Given the description of an element on the screen output the (x, y) to click on. 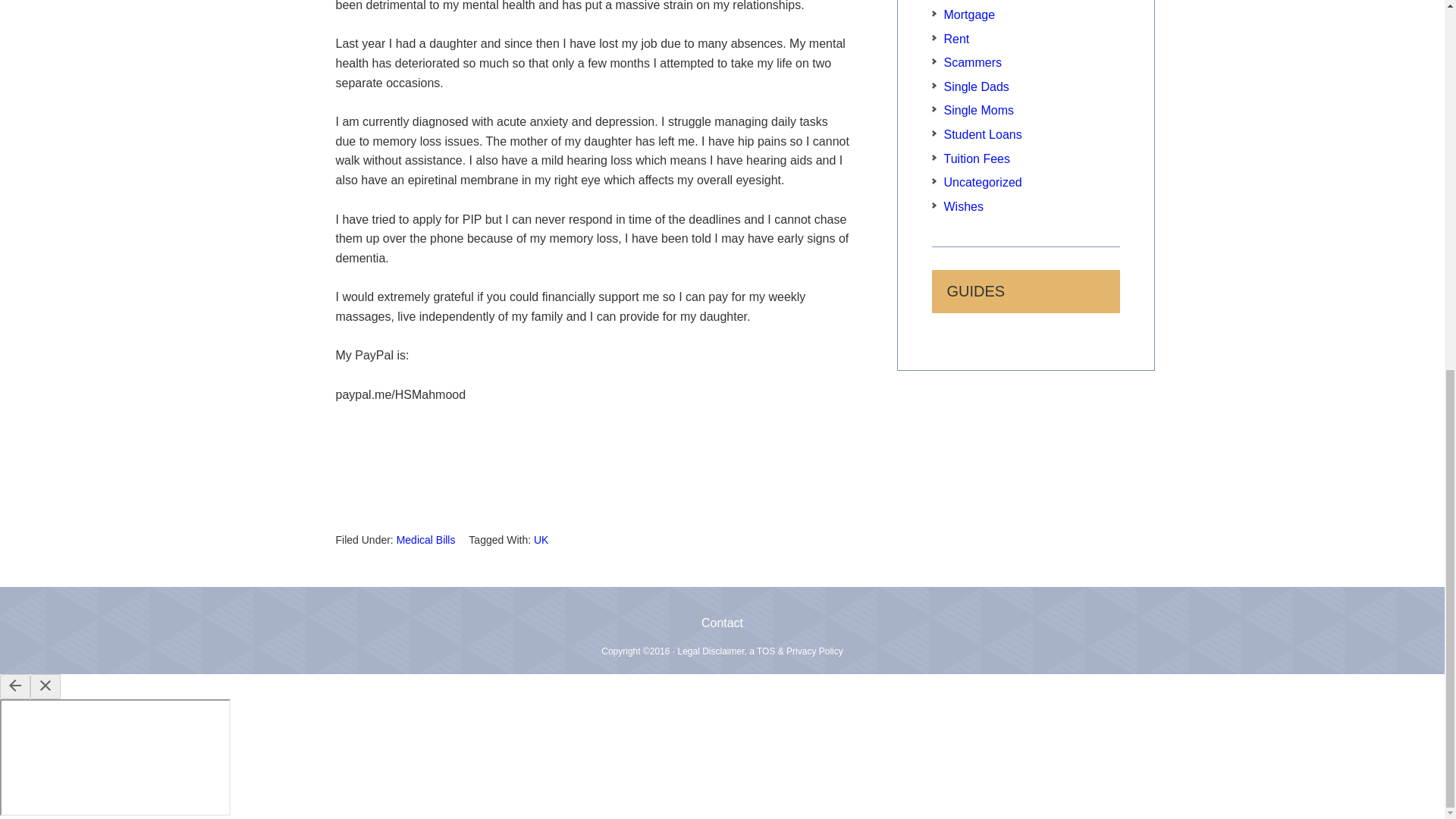
UK (541, 539)
Contact (721, 622)
Tuition Fees (976, 158)
Rent (956, 38)
Legal Disclaimer (710, 651)
Mortgage (968, 14)
Single Dads (976, 86)
Wishes (962, 205)
Single Moms (978, 110)
Student Loans (982, 133)
Medical Bills (425, 539)
Uncategorized (982, 182)
Scammers (972, 62)
